Given the description of an element on the screen output the (x, y) to click on. 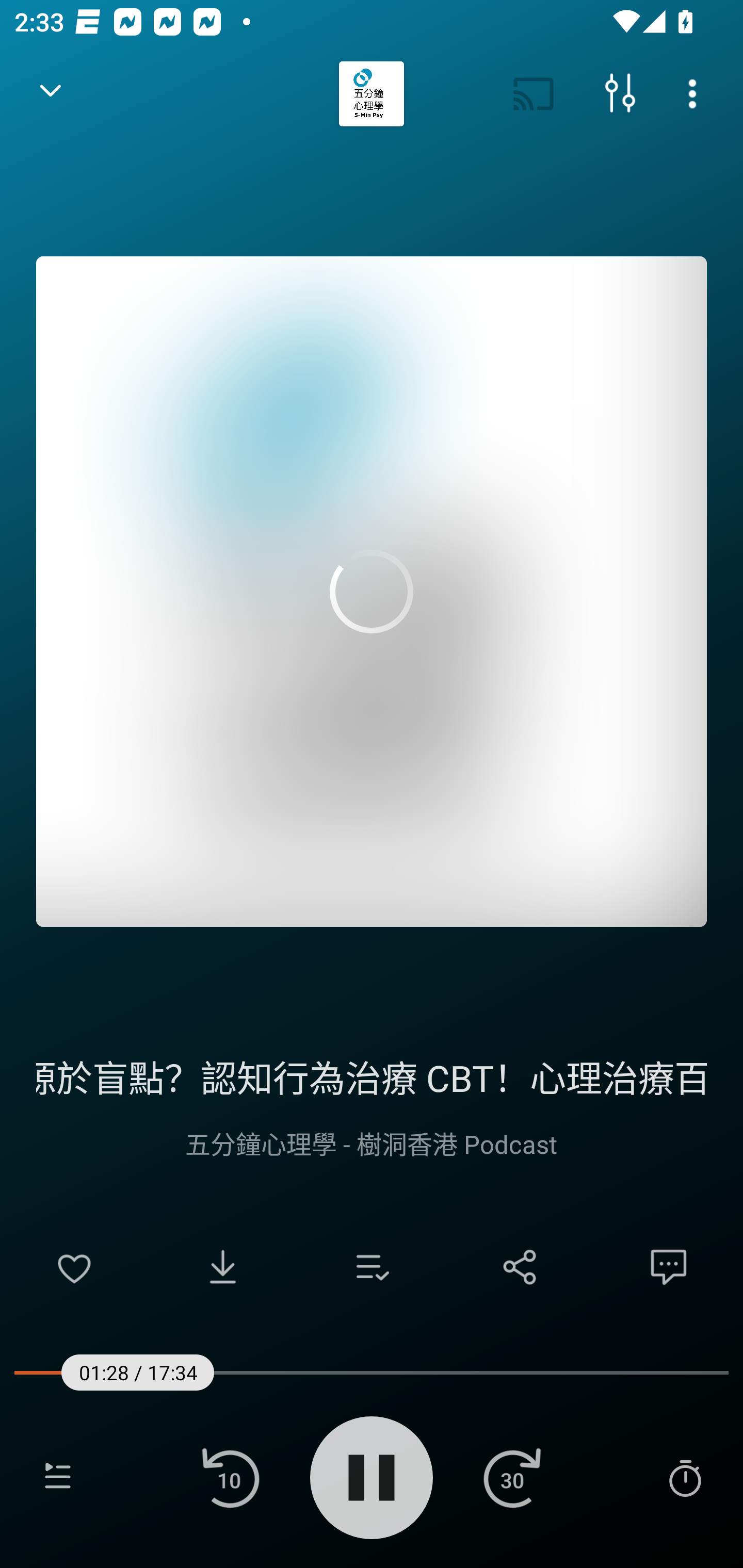
Cast. Disconnected (533, 93)
 Back (50, 94)
#PSY｜困擾源於盲點？認知行為治療 CBT！心理治療百科（一）｜#五分鐘心理學 (371, 1075)
五分鐘心理學 - 樹洞香港 Podcast (371, 1142)
Comments (668, 1266)
Add to Favorites (73, 1266)
Add to playlist (371, 1266)
Share (519, 1266)
 Playlist (57, 1477)
Sleep Timer  (684, 1477)
